Given the description of an element on the screen output the (x, y) to click on. 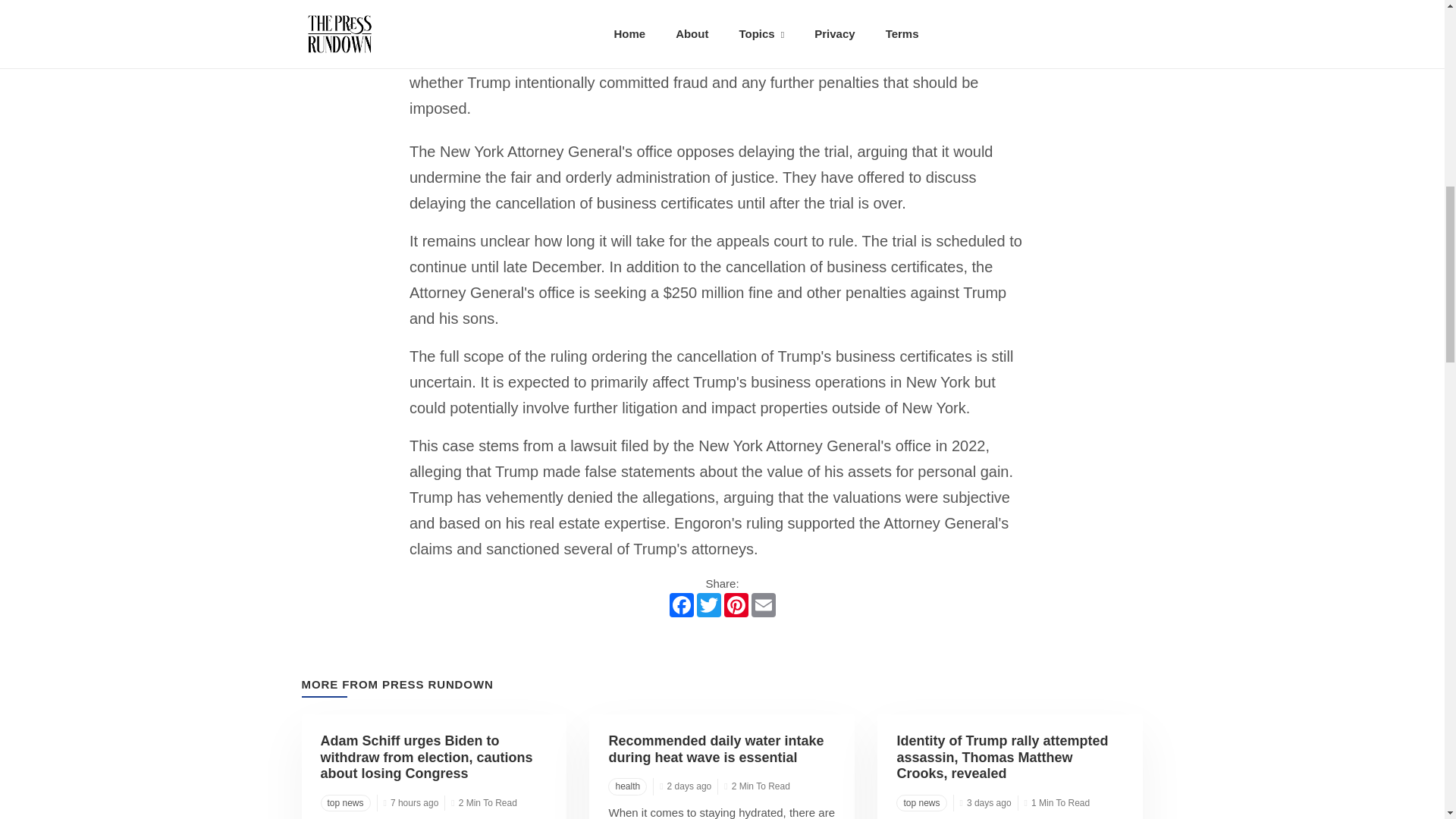
Pinterest (735, 604)
Facebook (680, 604)
top news (344, 802)
Email (762, 604)
top news (921, 802)
Recommended daily water intake during heat wave is essential (716, 748)
health (627, 786)
Twitter (708, 604)
